Given the description of an element on the screen output the (x, y) to click on. 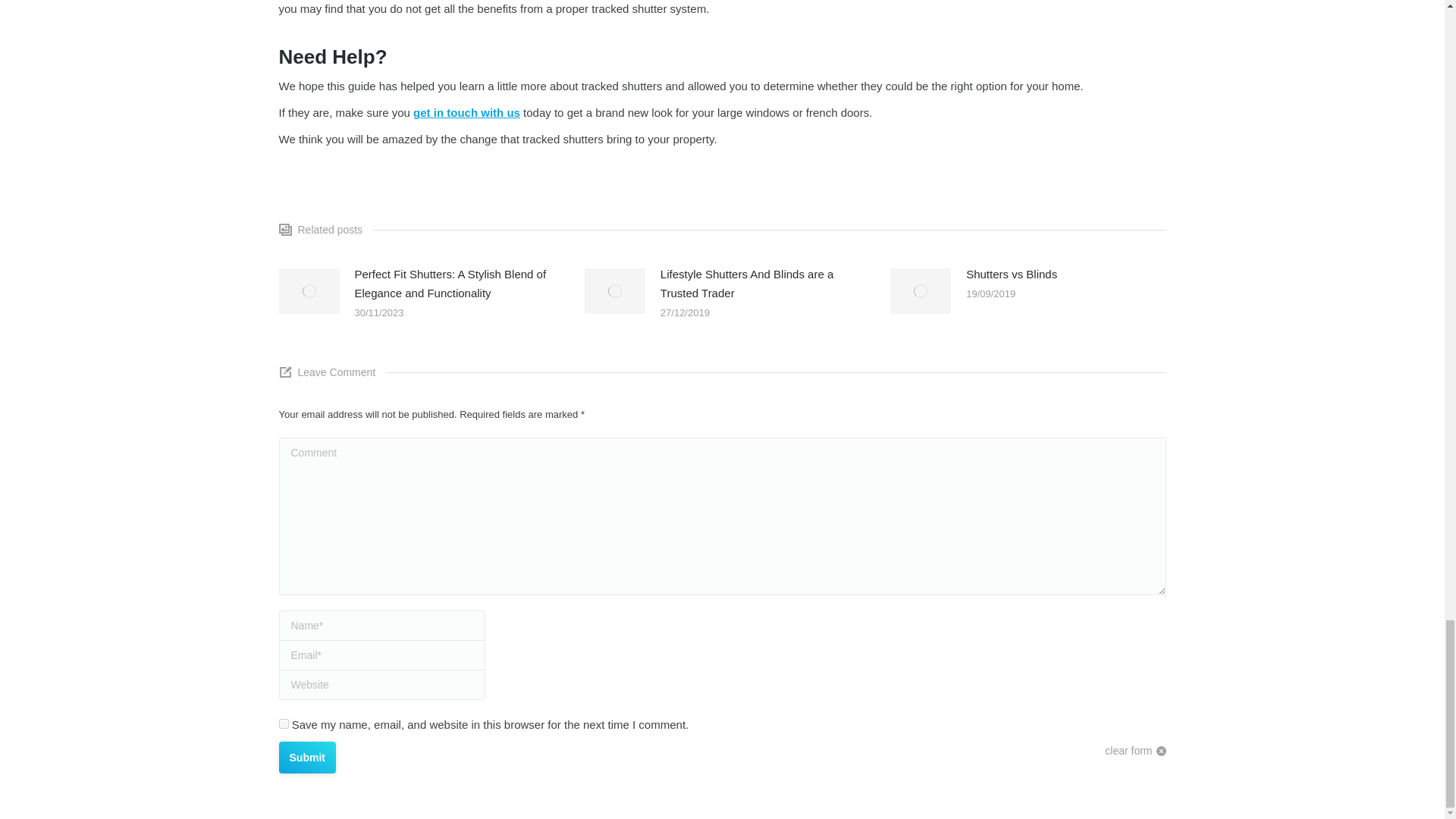
yes (283, 723)
get in touch with us (466, 112)
